Given the description of an element on the screen output the (x, y) to click on. 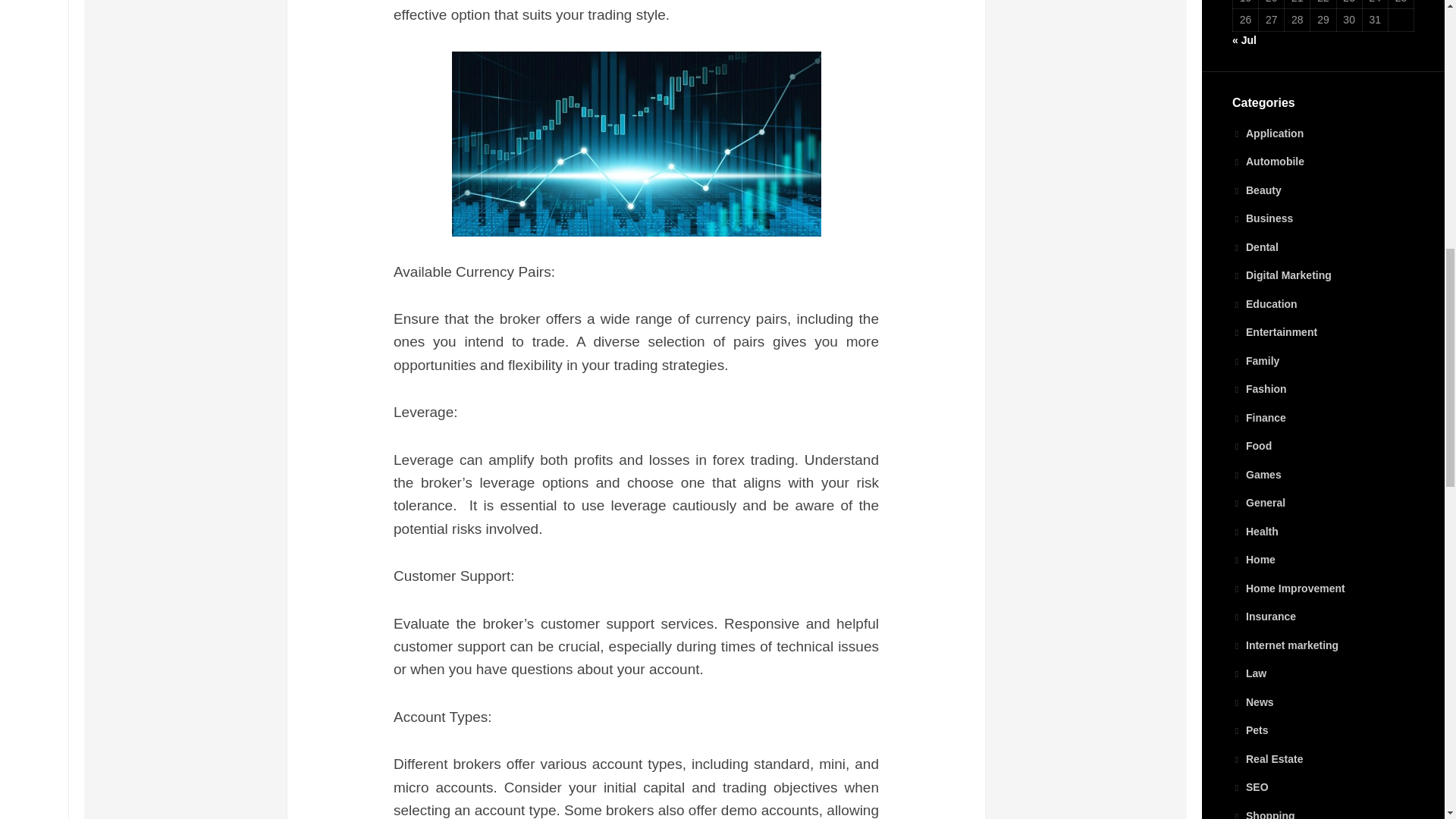
Internet marketing (1284, 644)
Fashion (1259, 388)
Home (1253, 559)
General (1258, 502)
Health (1254, 530)
Application (1267, 133)
Finance (1258, 417)
Family (1255, 360)
Shopping (1263, 814)
Food (1251, 445)
Dental (1254, 246)
Insurance (1263, 616)
News (1252, 702)
Education (1264, 303)
Automobile (1267, 161)
